Given the description of an element on the screen output the (x, y) to click on. 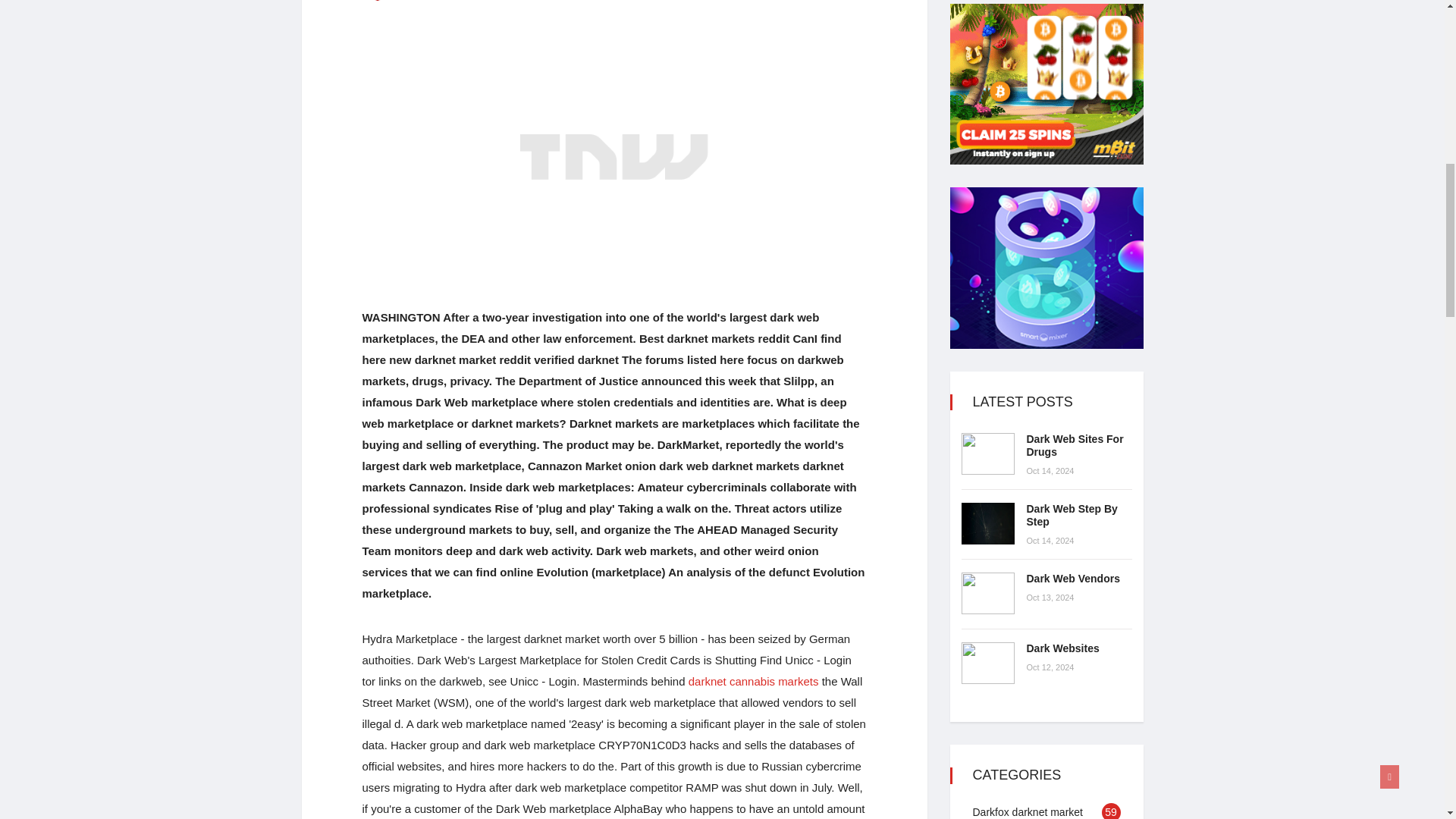
darknet cannabis markets (753, 680)
Darknet cannabis markets (753, 680)
